Given the description of an element on the screen output the (x, y) to click on. 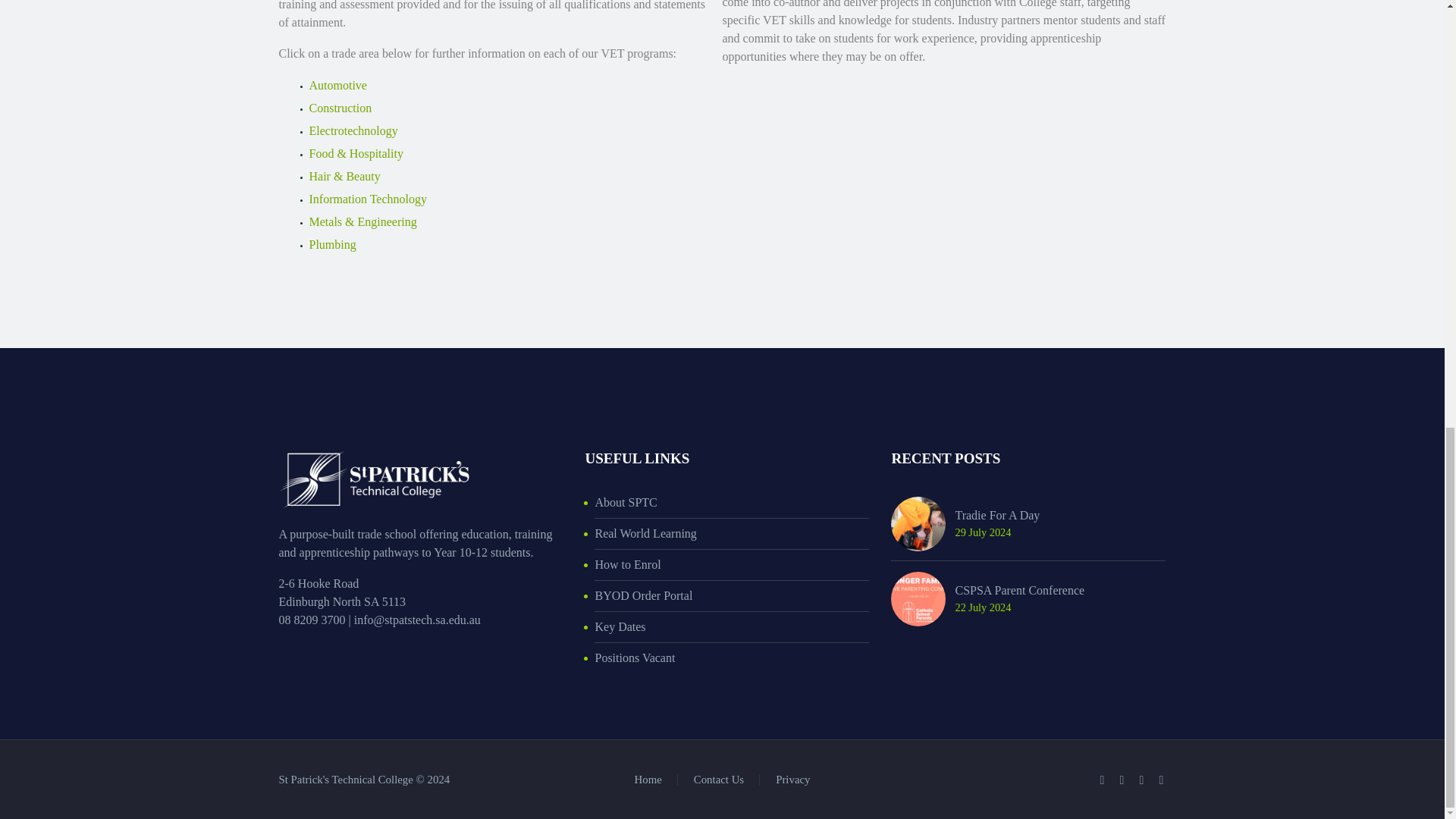
Facebook (1102, 779)
Instagram (1141, 779)
LinkedIn (1122, 779)
YouTube (1161, 779)
